Given the description of an element on the screen output the (x, y) to click on. 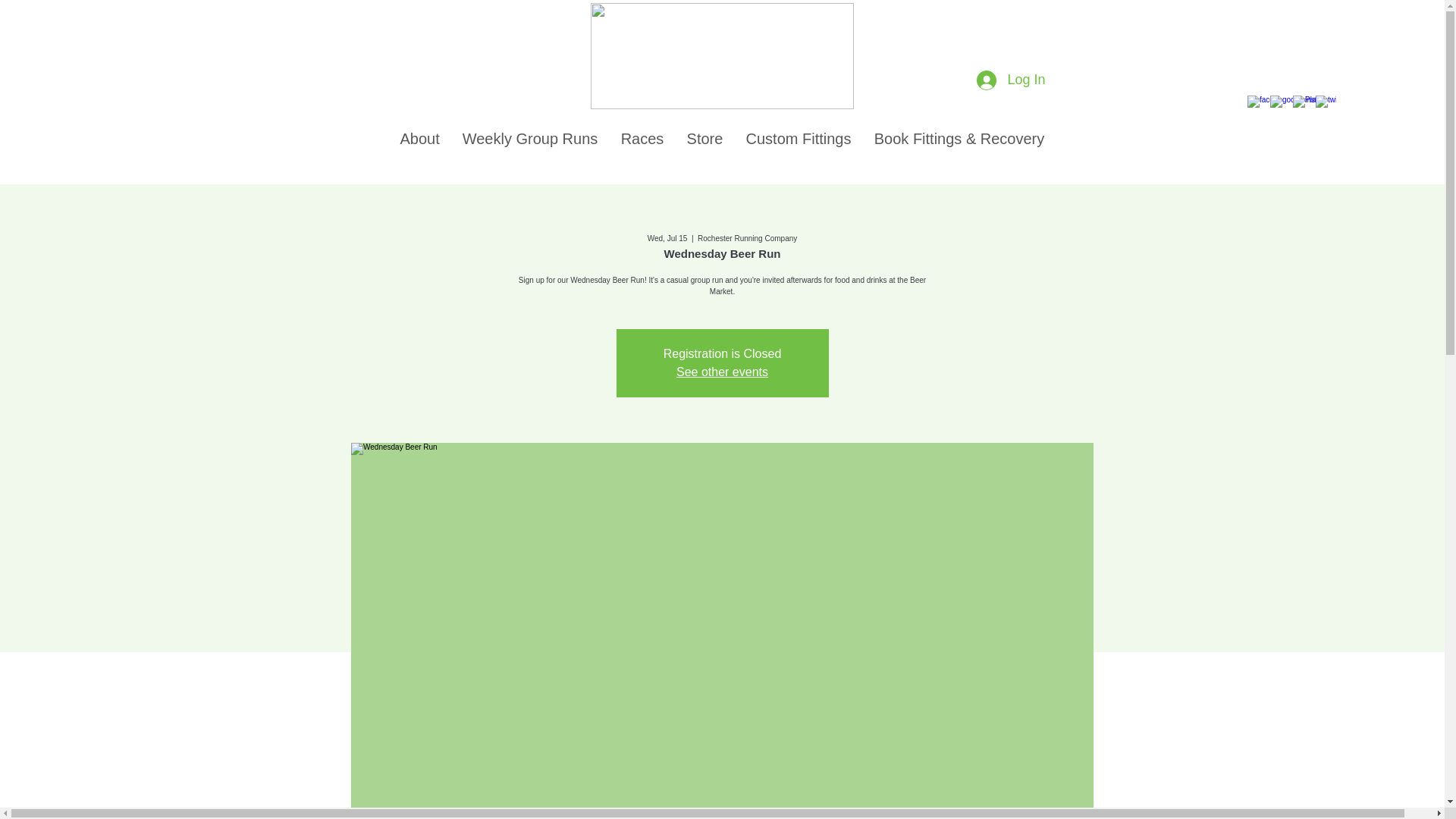
Weekly Group Runs (528, 138)
Custom Fittings (797, 138)
See other events (722, 371)
Log In (1010, 80)
Store (704, 138)
